Given the description of an element on the screen output the (x, y) to click on. 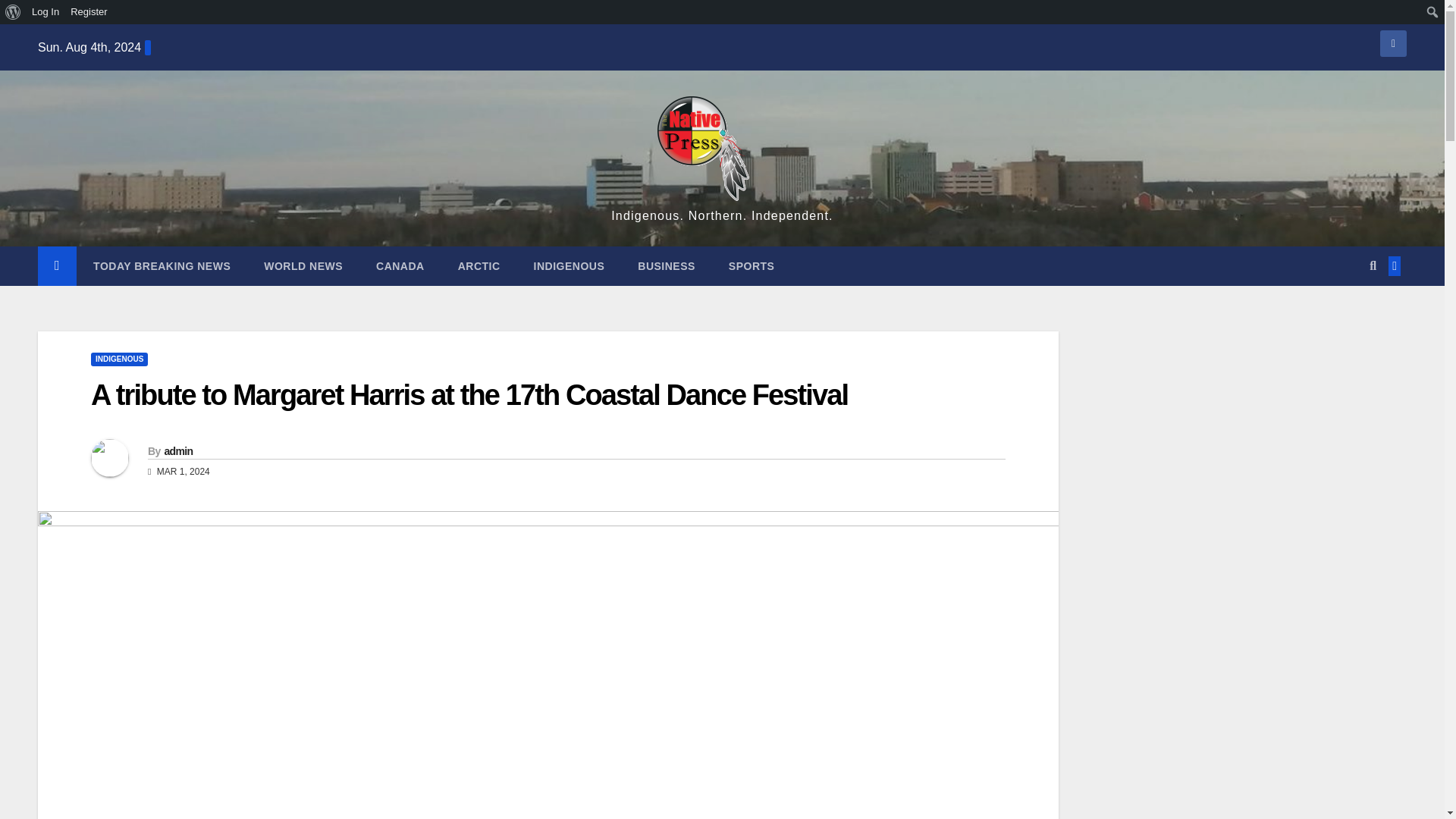
INDIGENOUS (119, 359)
Arctic (478, 265)
BUSINESS (666, 265)
Indigenous (568, 265)
Business (666, 265)
CANADA (400, 265)
World News (303, 265)
Search (16, 12)
SPORTS (751, 265)
Register (89, 12)
